Given the description of an element on the screen output the (x, y) to click on. 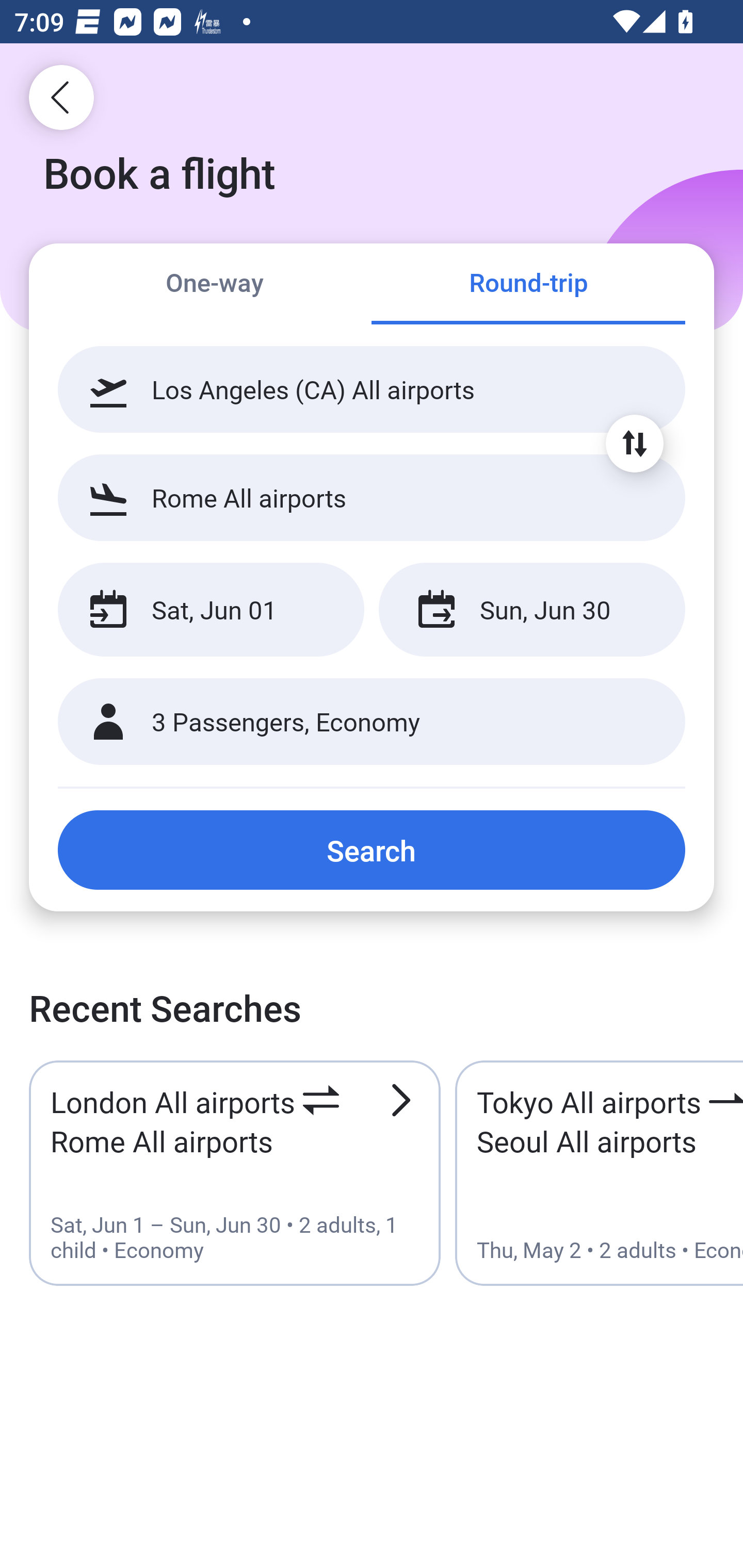
One-way (214, 284)
Los Angeles (CA) All airports (371, 389)
Rome All airports (371, 497)
Sat, Jun 01 (210, 609)
Sun, Jun 30 (531, 609)
3 Passengers, Economy (371, 721)
Search (371, 849)
